Given the description of an element on the screen output the (x, y) to click on. 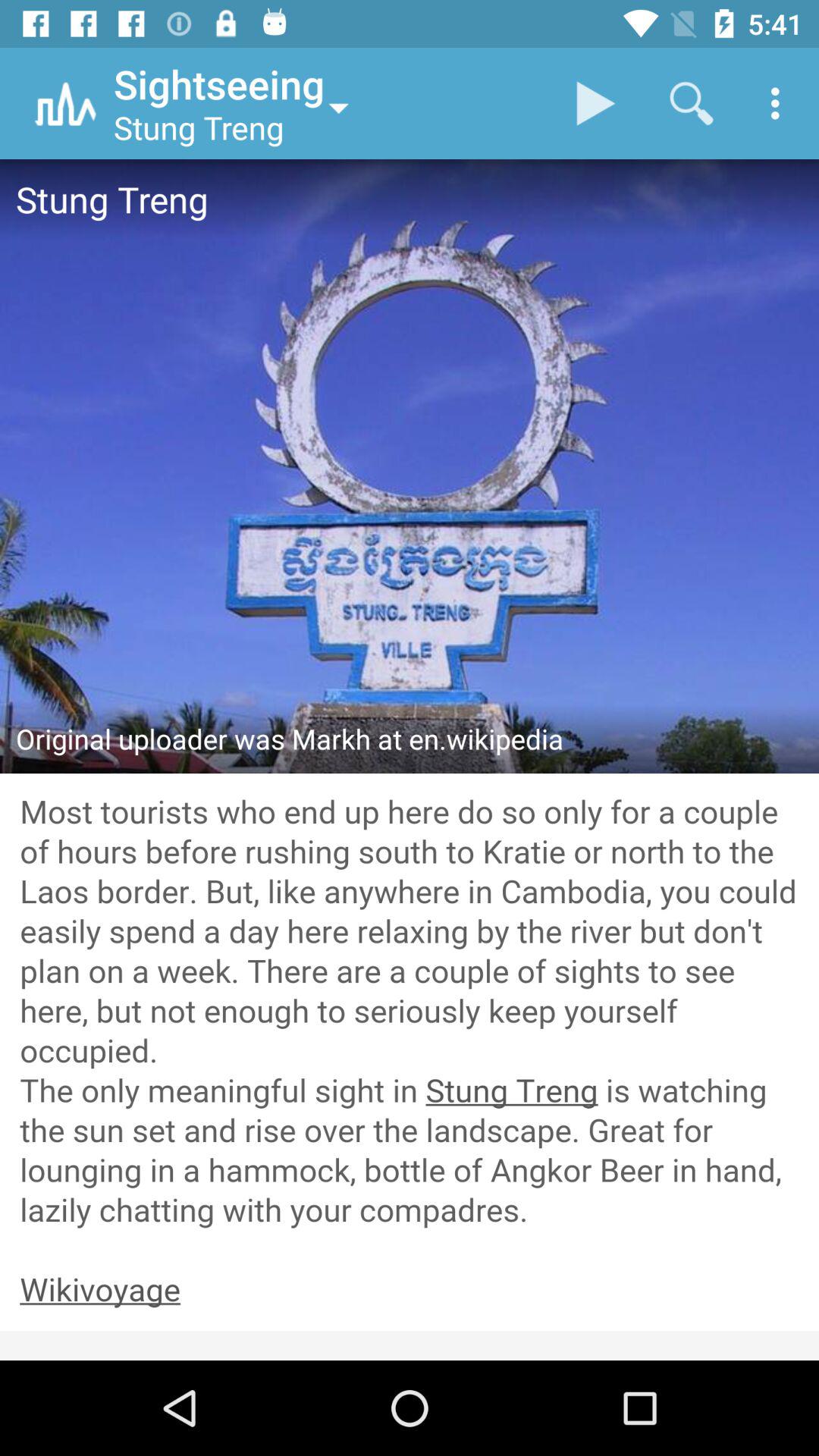
shows the content (409, 1012)
